Given the description of an element on the screen output the (x, y) to click on. 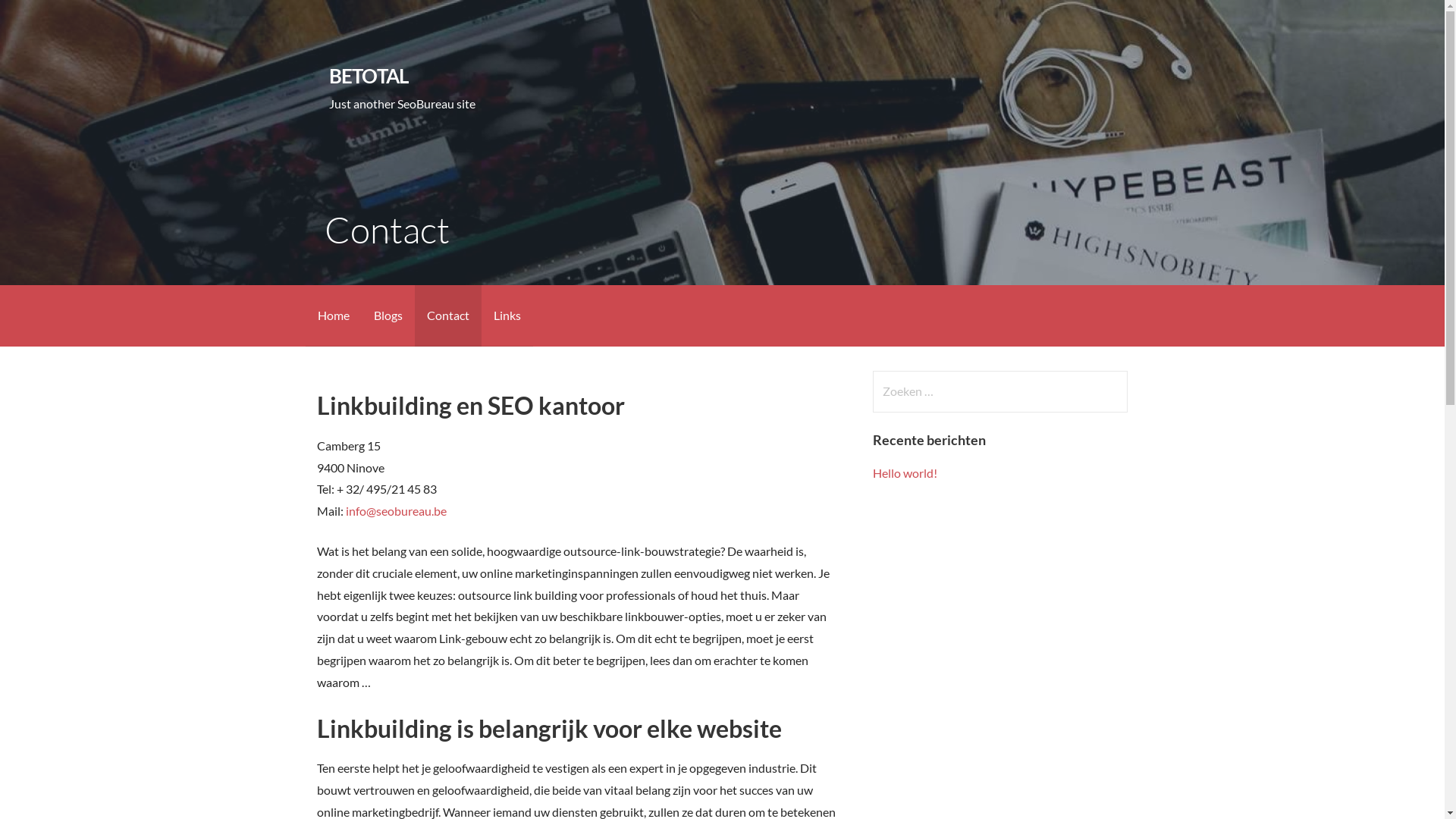
Links Element type: text (506, 315)
BETOTAL Element type: text (368, 75)
info@seobureau.be Element type: text (395, 510)
Hello world! Element type: text (904, 472)
Home Element type: text (332, 315)
Contact Element type: text (447, 315)
Zoeken Element type: text (42, 18)
Blogs Element type: text (387, 315)
